Given the description of an element on the screen output the (x, y) to click on. 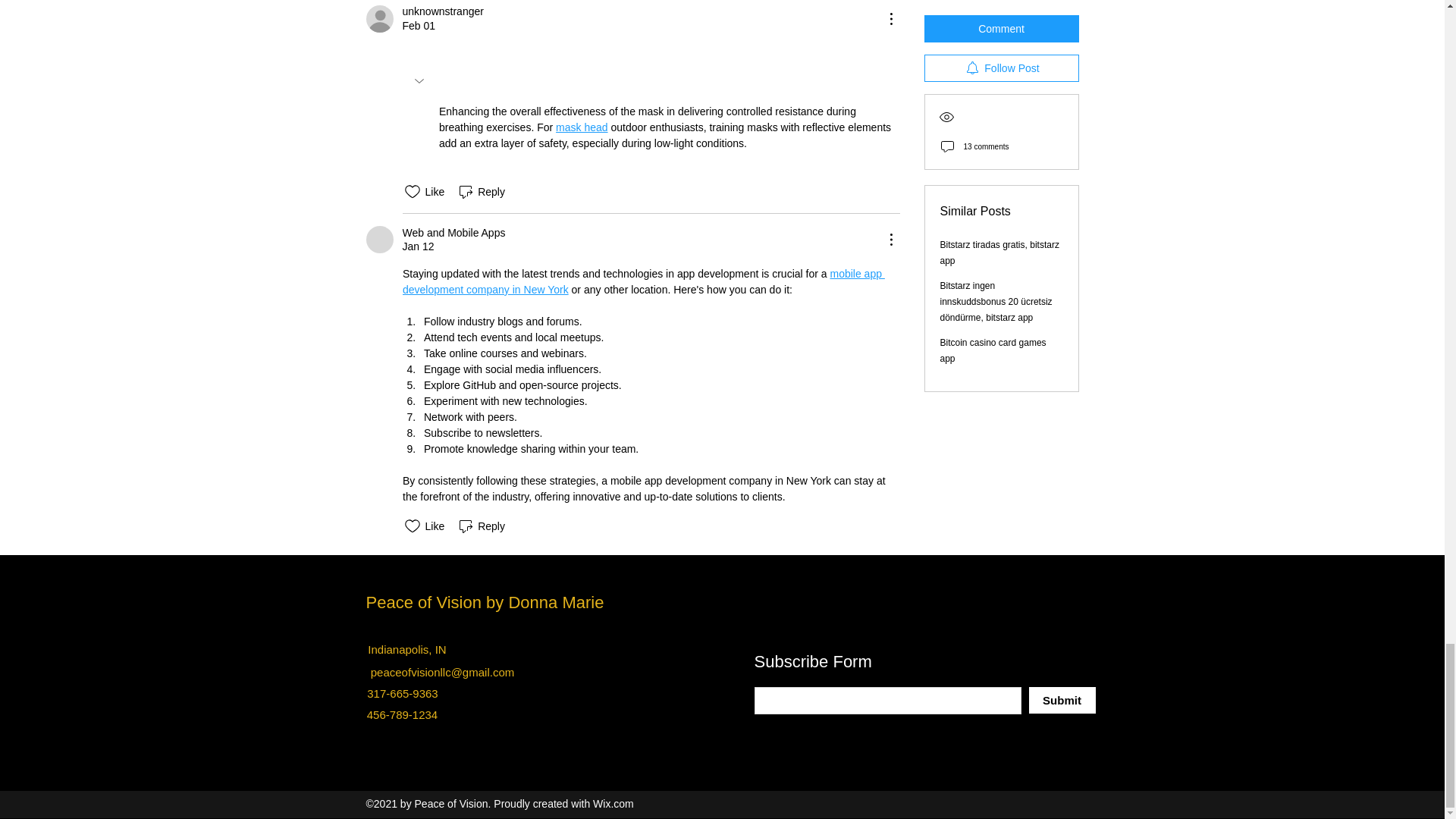
Web and Mobile Apps (379, 239)
